Given the description of an element on the screen output the (x, y) to click on. 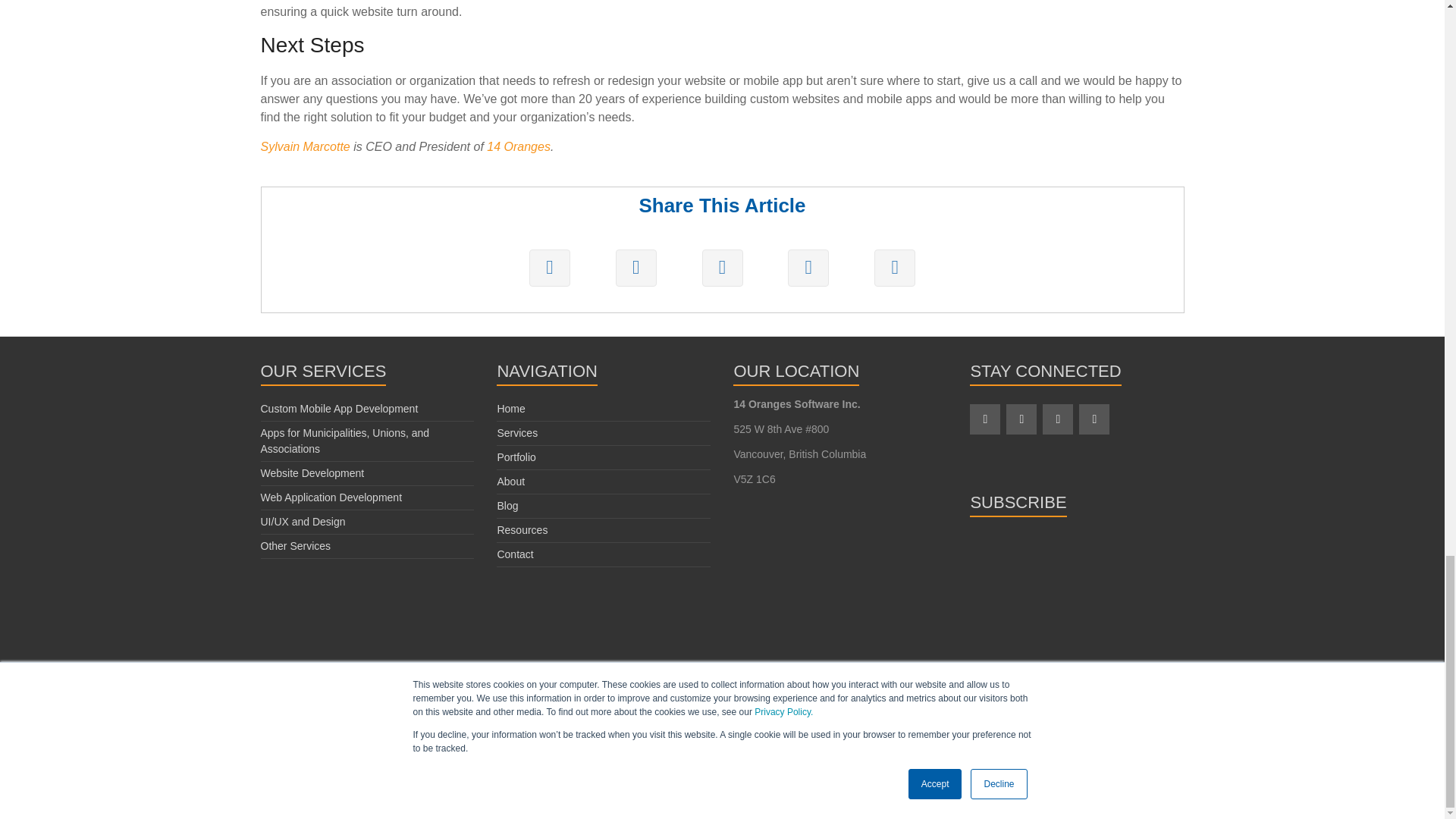
Form 0 (1076, 616)
Sylvain Marcotte (305, 146)
14 Oranges (518, 146)
